Given the description of an element on the screen output the (x, y) to click on. 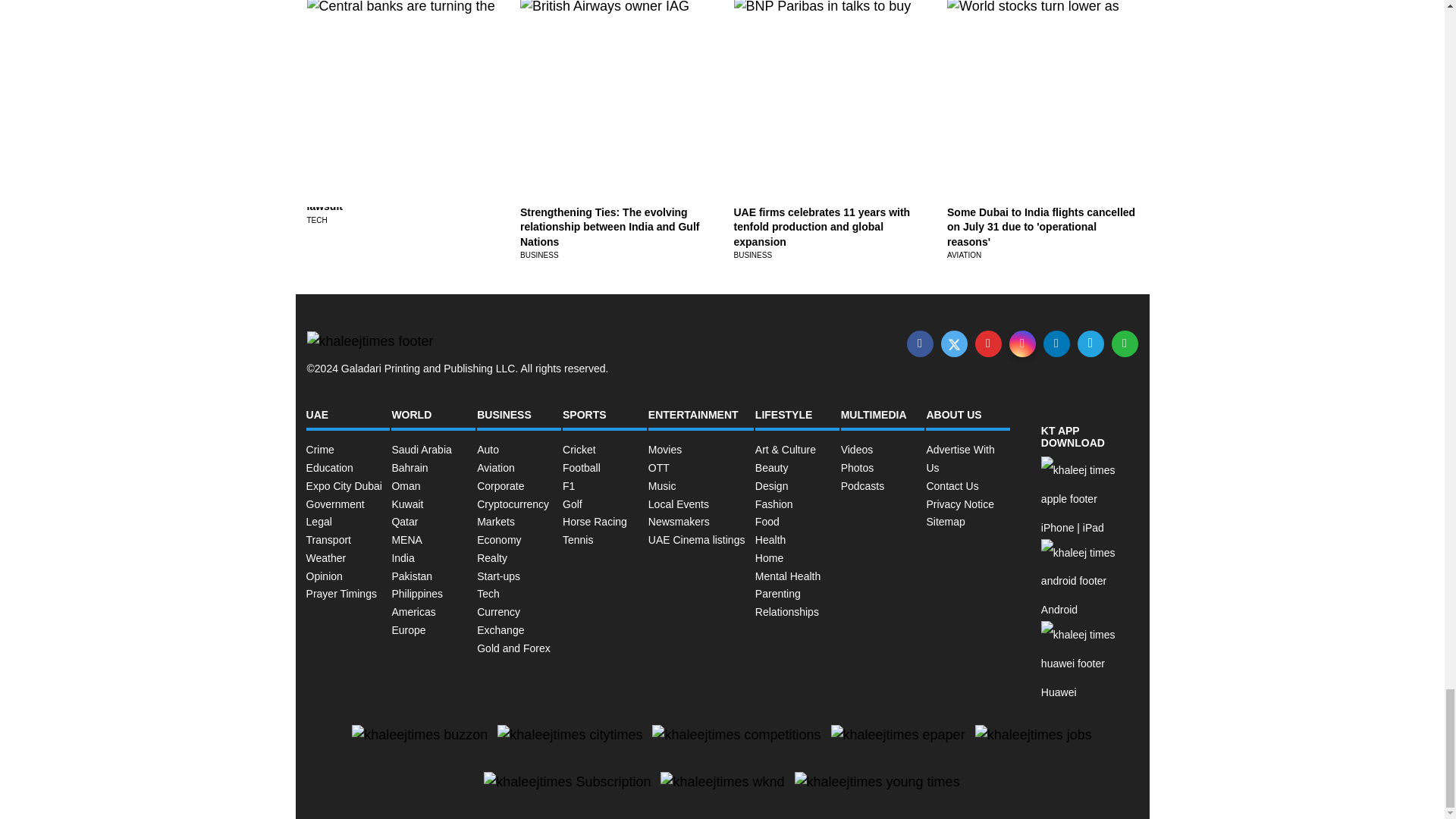
British Airways owner IAG scraps deal to acquire Air Europa (604, 79)
World stocks turn lower as US data sparks worry, yields rise (1036, 79)
Apple asks US judge to toss antitrust lawsuit (400, 198)
